Given the description of an element on the screen output the (x, y) to click on. 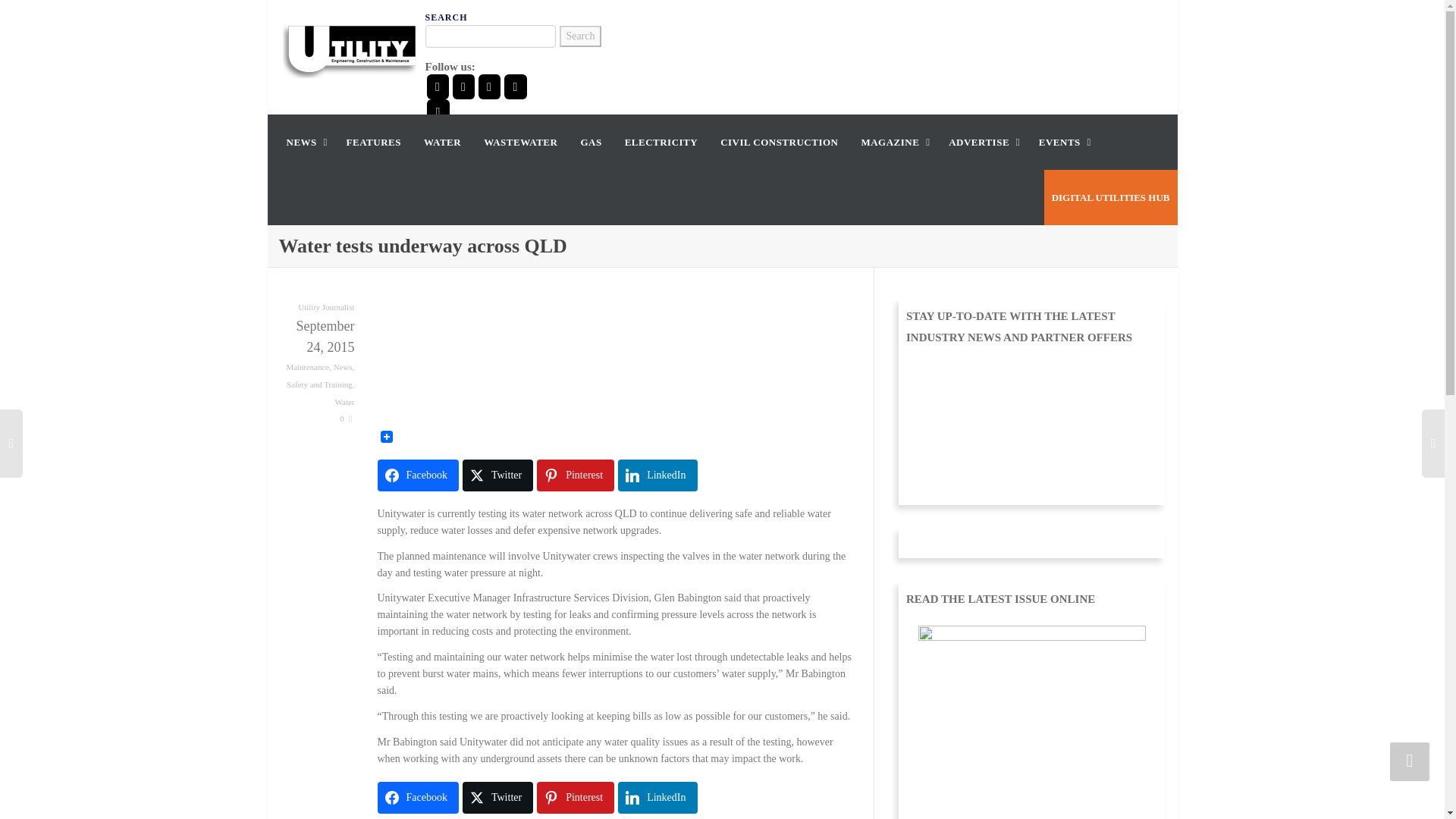
0 (346, 418)
September 24, 2015 (317, 336)
Electricity (661, 141)
Magazine (893, 141)
Utility Magazine (348, 49)
Utility Journalist (325, 306)
Features (373, 141)
ELECTRICITY (661, 141)
Search (579, 35)
CIVIL CONSTRUCTION (779, 141)
